Given the description of an element on the screen output the (x, y) to click on. 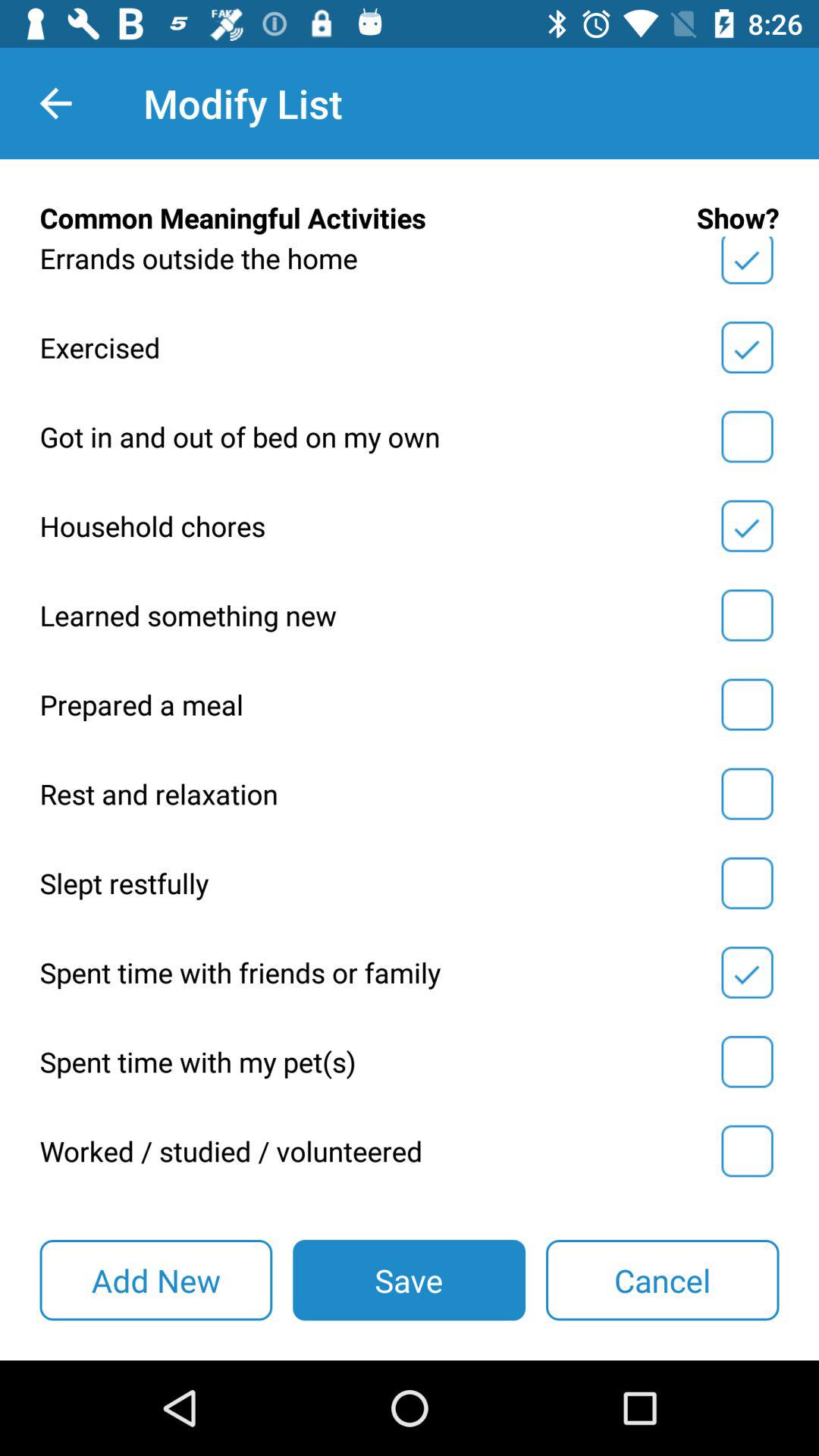
check mark (747, 1061)
